Given the description of an element on the screen output the (x, y) to click on. 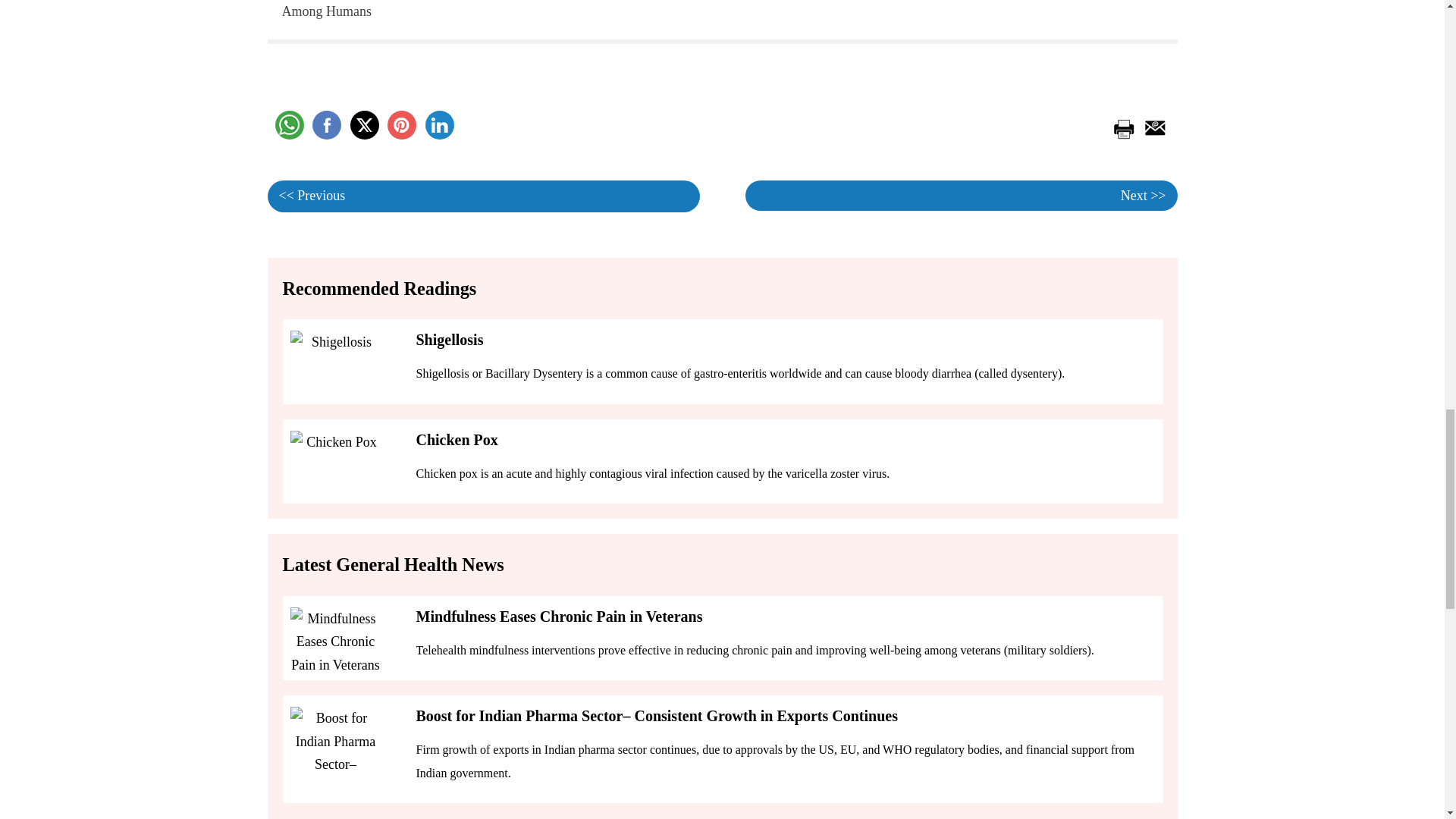
Print This Page (1121, 125)
Facebook (326, 124)
Pinterest (401, 124)
Linkedin (438, 124)
Facebook (326, 124)
Twitter (364, 124)
Whatsapp (288, 124)
Email This (1152, 125)
